Given the description of an element on the screen output the (x, y) to click on. 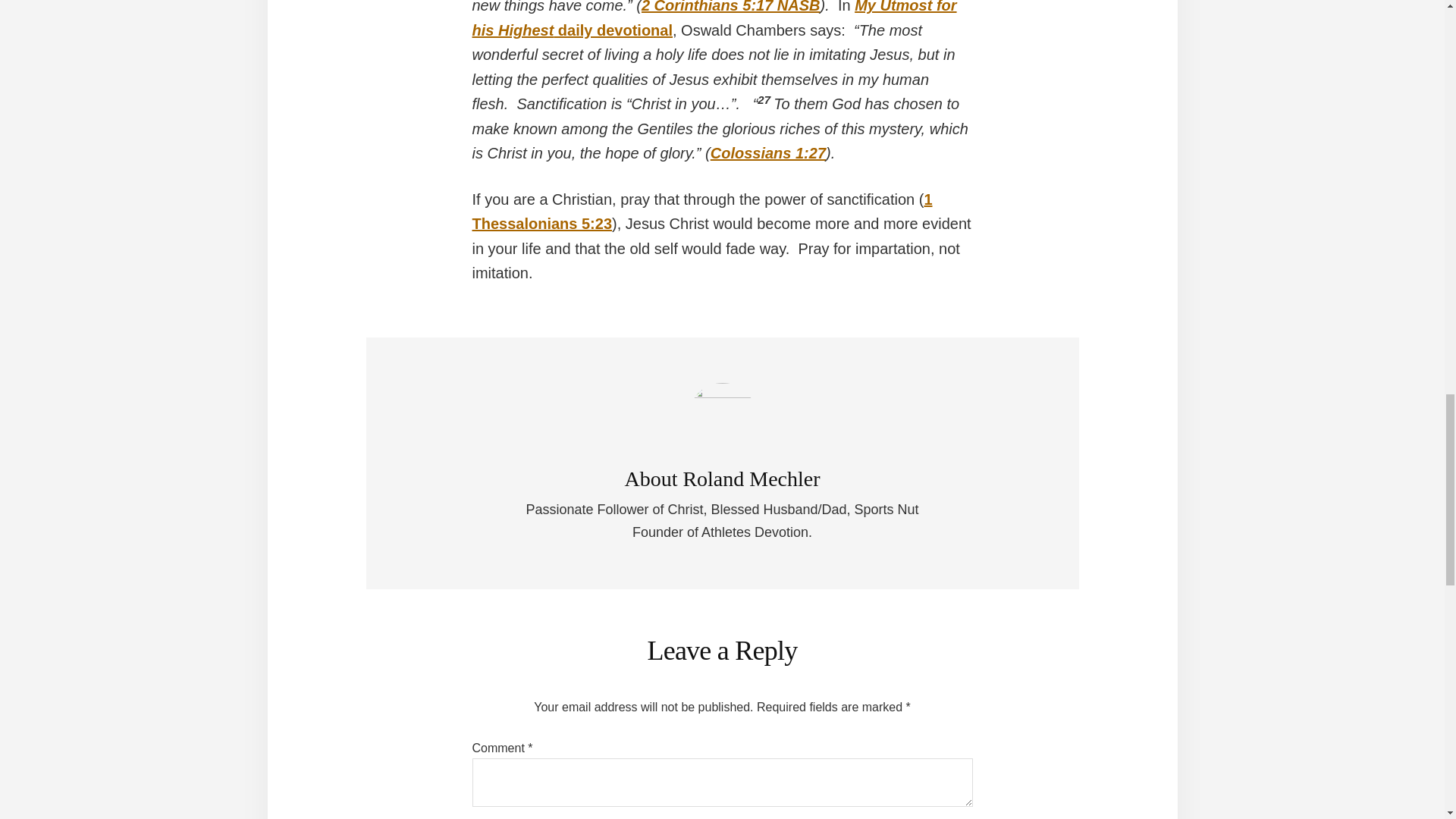
2 Corinthians 5:17 NASB (731, 6)
My Utmost for his Highest daily devotional (713, 19)
1 Thessalonians 5:23 (701, 211)
Colossians 1:27 (767, 152)
